Given the description of an element on the screen output the (x, y) to click on. 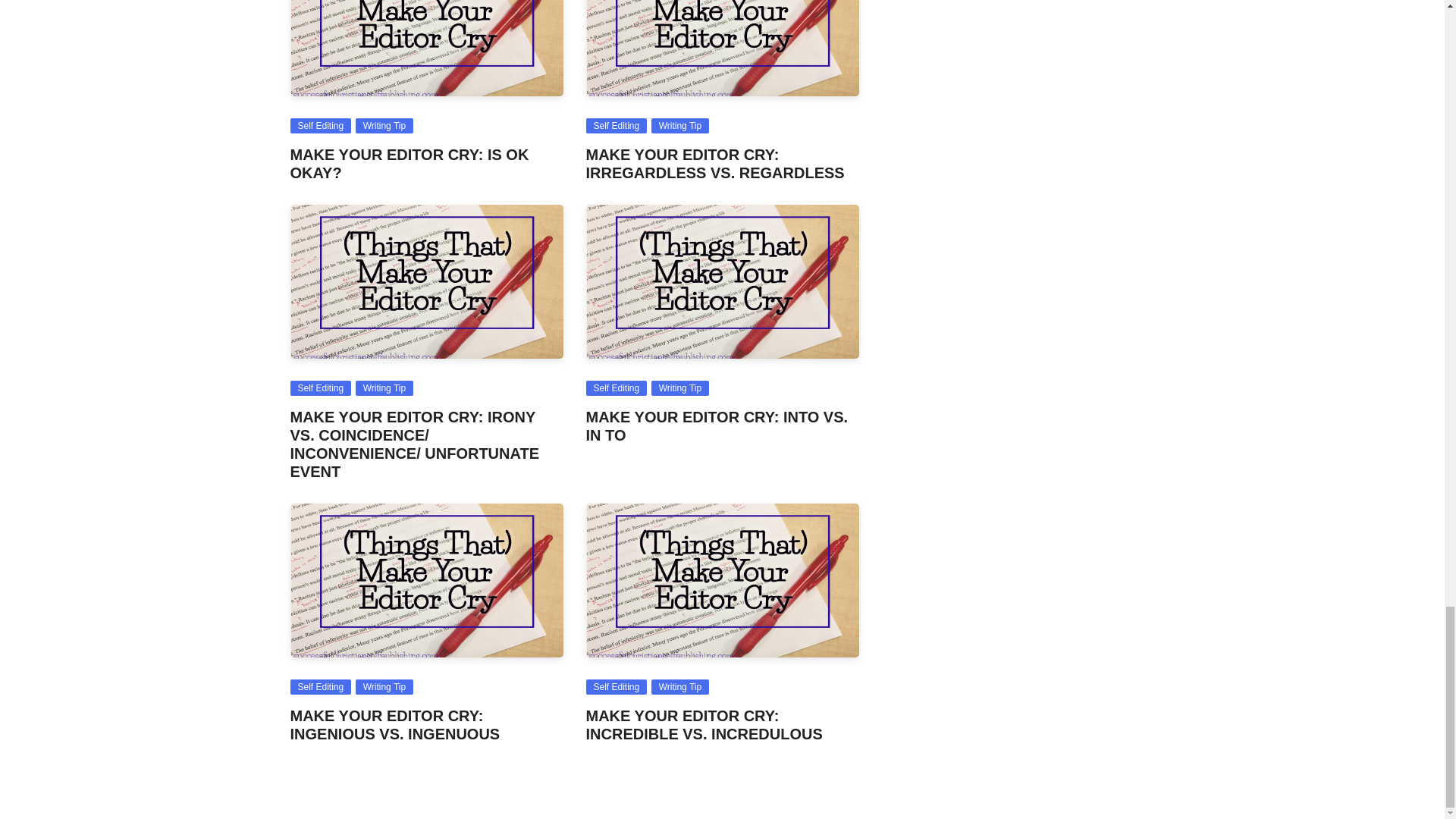
MAKE YOUR EDITOR CRY: INTO VS. IN TO (716, 425)
MAKE YOUR EDITOR CRY: IRREGARDLESS VS. REGARDLESS (714, 163)
Writing Tip (384, 387)
Writing Tip (384, 686)
Self Editing (319, 125)
Self Editing (615, 125)
Writing Tip (384, 125)
MAKE YOUR EDITOR CRY: IS OK OKAY? (408, 163)
Writing Tip (679, 387)
Writing Tip (679, 125)
